Given the description of an element on the screen output the (x, y) to click on. 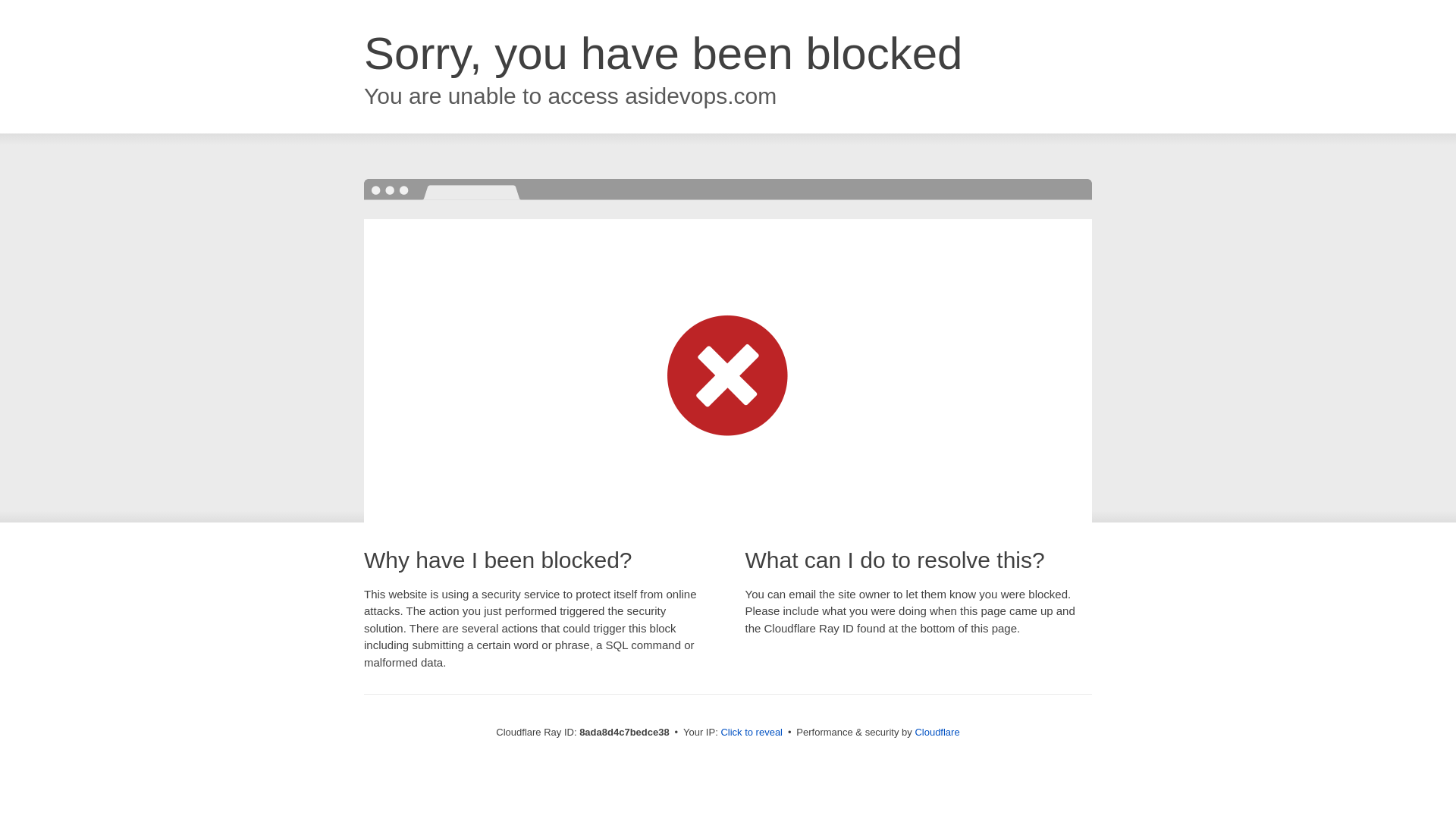
Cloudflare (936, 731)
Click to reveal (751, 732)
